Given the description of an element on the screen output the (x, y) to click on. 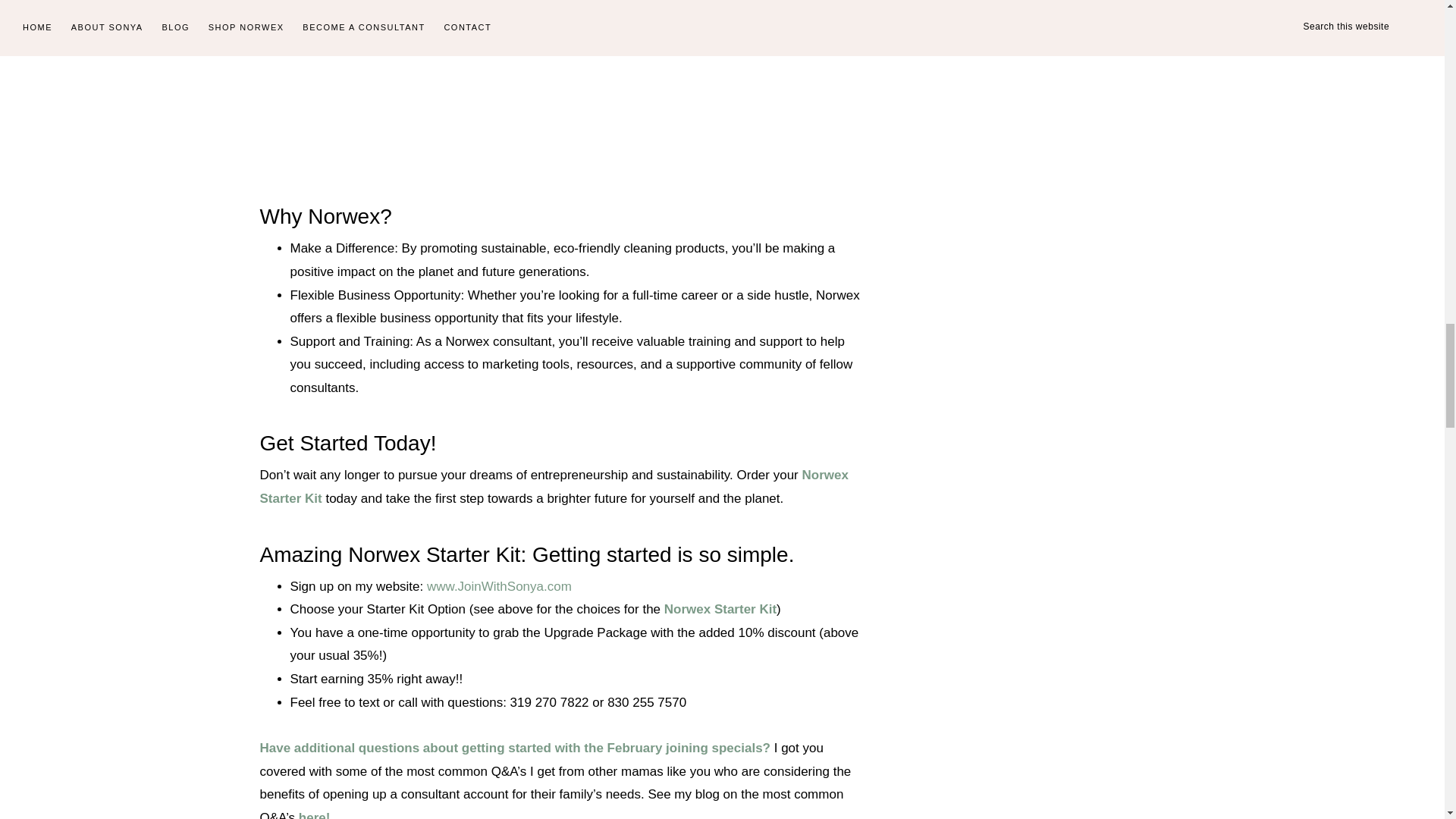
Norwex Manifesto 2023 (559, 86)
